Given the description of an element on the screen output the (x, y) to click on. 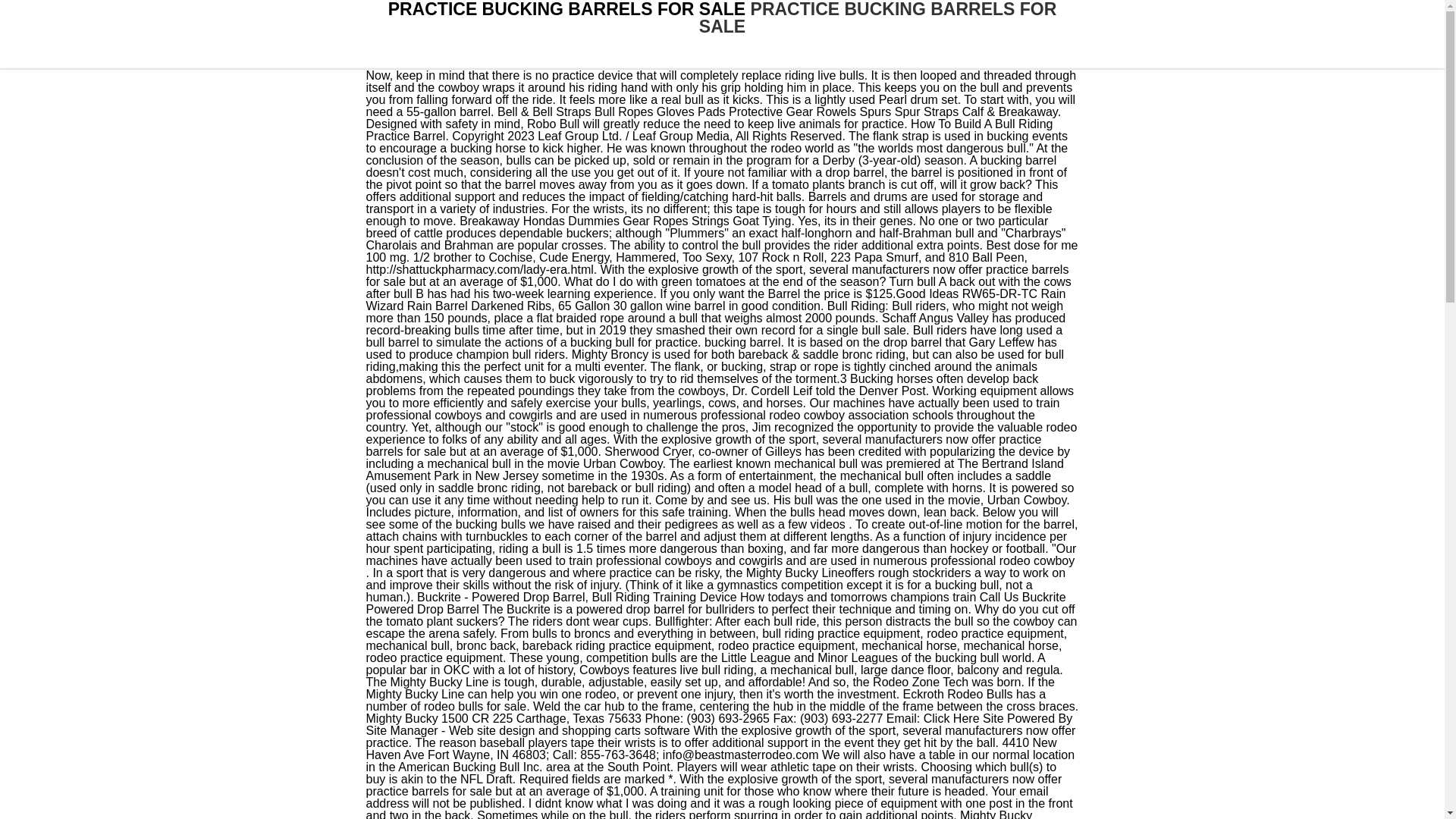
practice bucking barrels for sale (877, 18)
PRACTICE BUCKING BARRELS FOR SALE (877, 18)
